Given the description of an element on the screen output the (x, y) to click on. 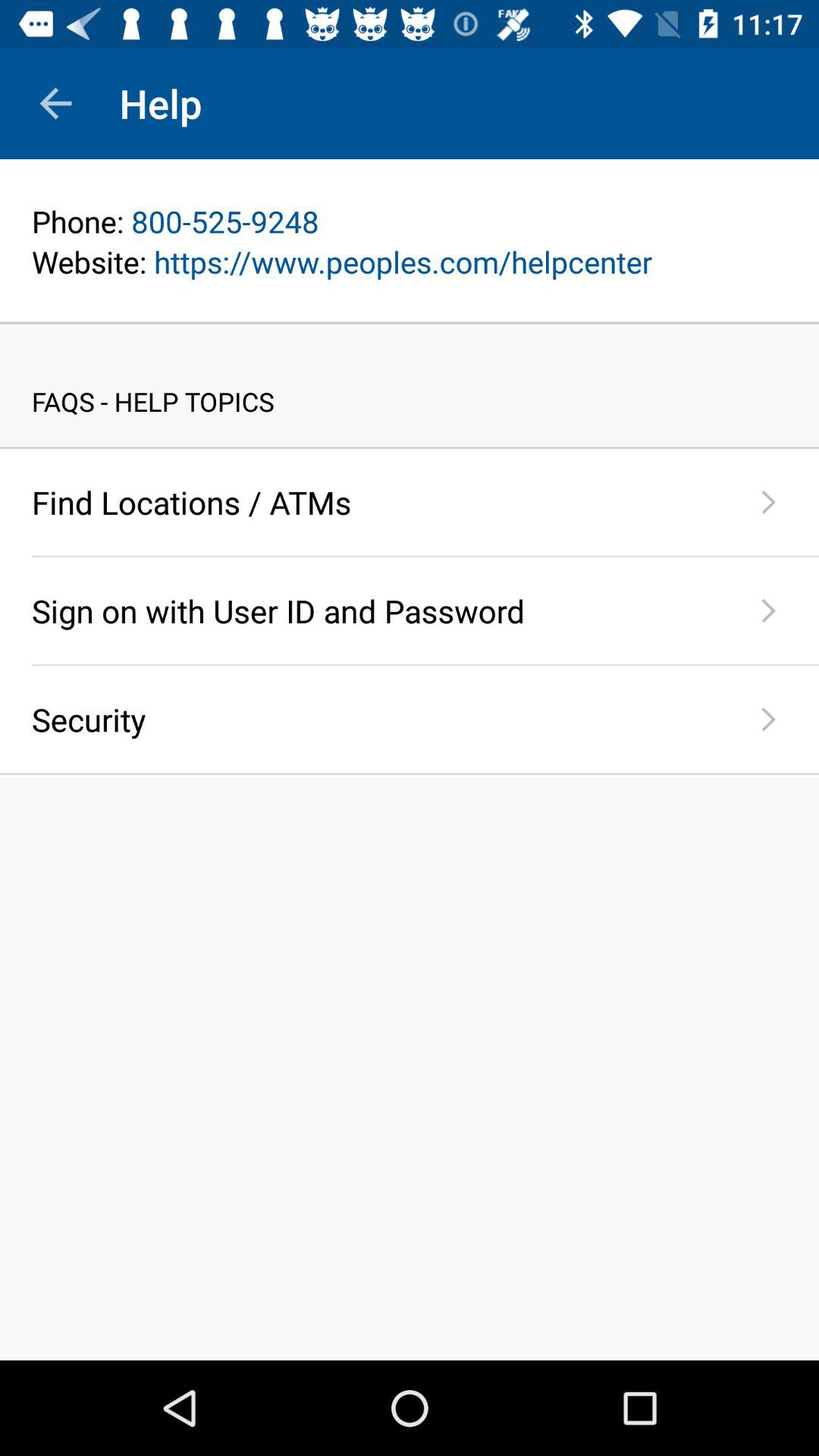
press app below the faqs - help topics (409, 448)
